Given the description of an element on the screen output the (x, y) to click on. 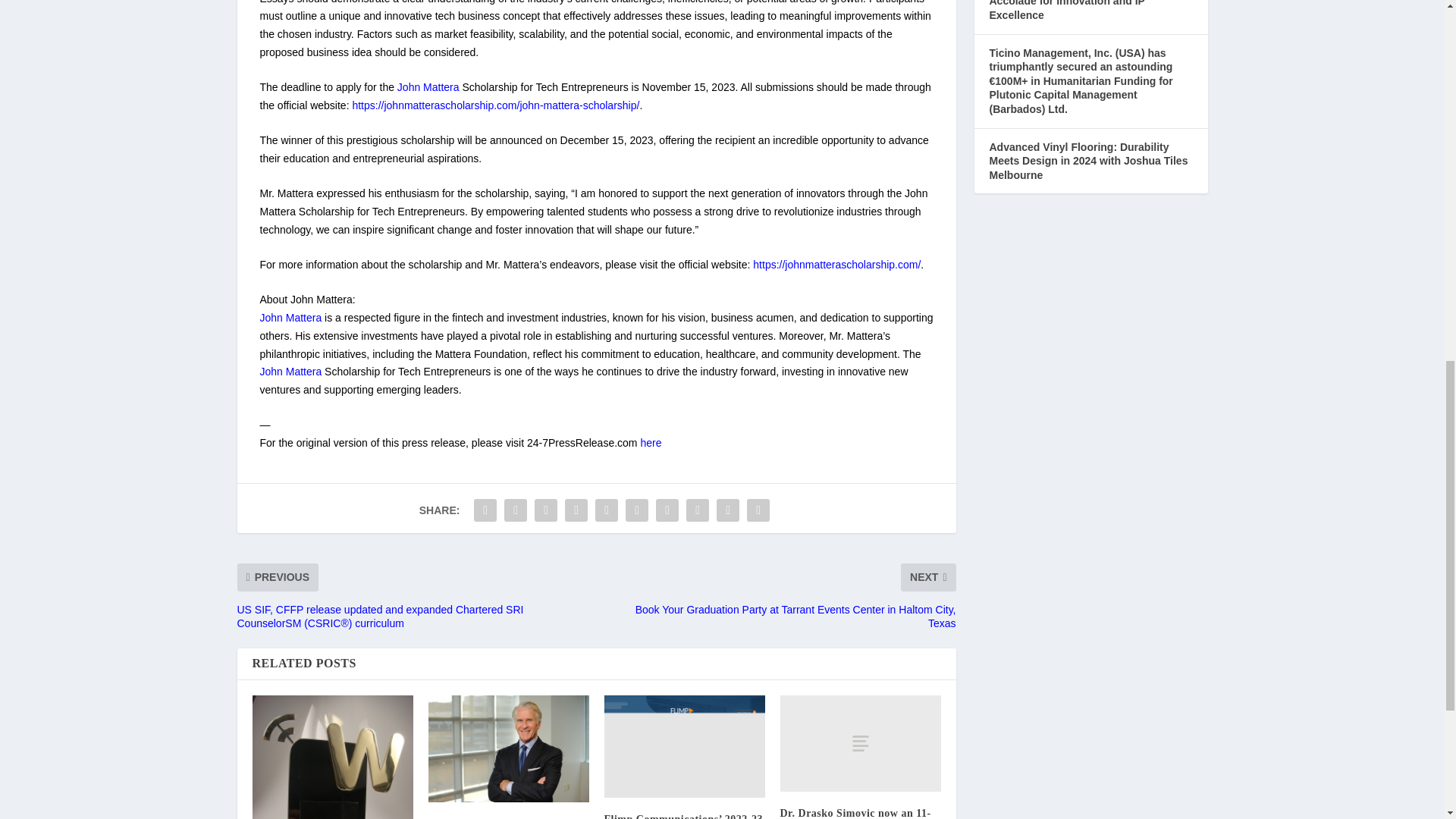
John Mattera (290, 371)
John Mattera (428, 87)
Dr. Drasko Simovic now an 11-time Castle Connolly Top Doctor (859, 743)
here (650, 442)
John Mattera (290, 317)
